Given the description of an element on the screen output the (x, y) to click on. 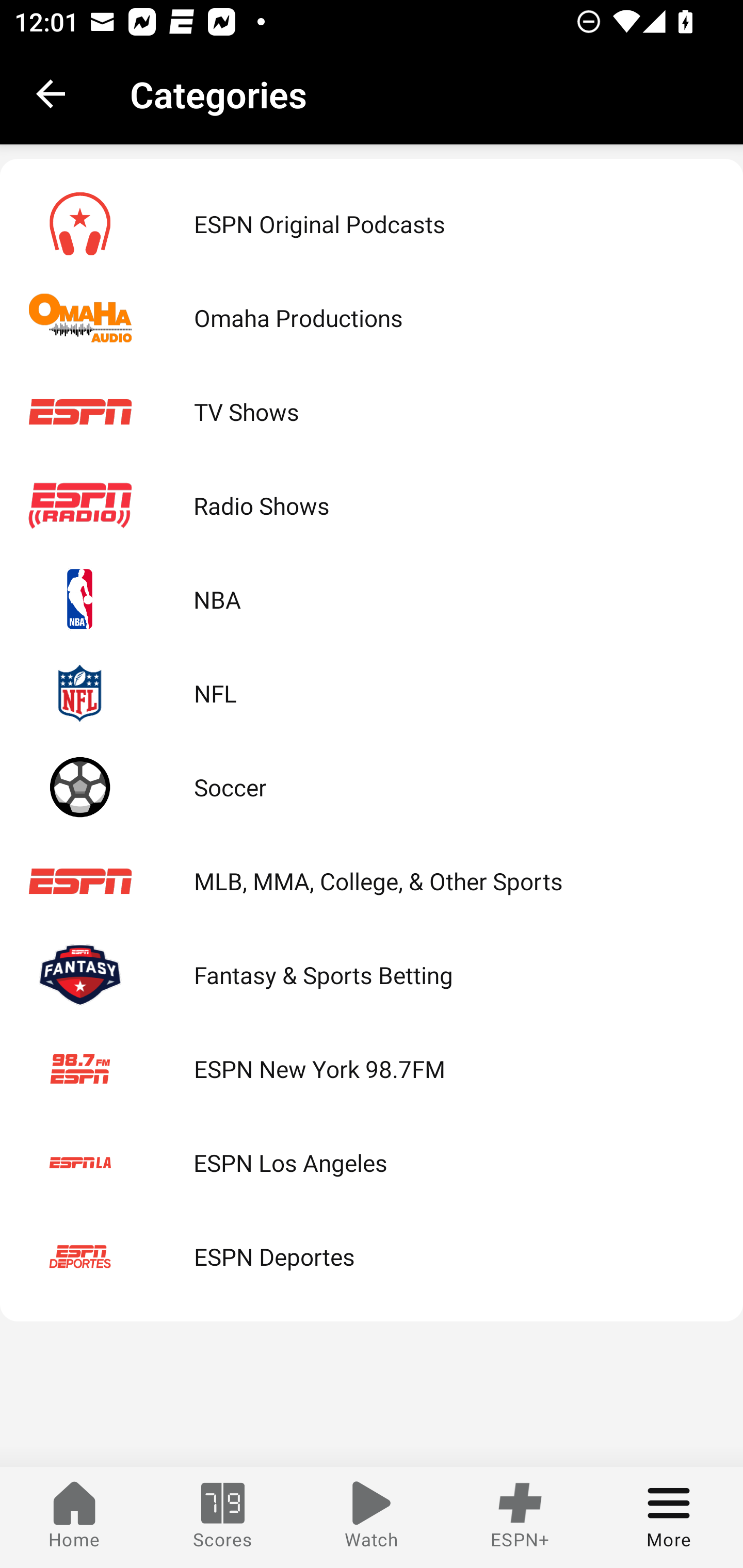
back.button (50, 93)
ESPN Original Podcasts (371, 224)
Omaha Productions (371, 318)
TV Shows (371, 411)
Radio Shows (371, 504)
NBA (371, 598)
NFL (371, 693)
Soccer (371, 787)
MLB, MMA, College, & Other Sports (371, 881)
Fantasy & Sports Betting (371, 975)
ESPN New York 98.7FM (371, 1069)
ESPN Los Angeles (371, 1162)
ESPN Deportes (371, 1255)
Home (74, 1517)
Scores (222, 1517)
Watch (371, 1517)
ESPN+ (519, 1517)
